Given the description of an element on the screen output the (x, y) to click on. 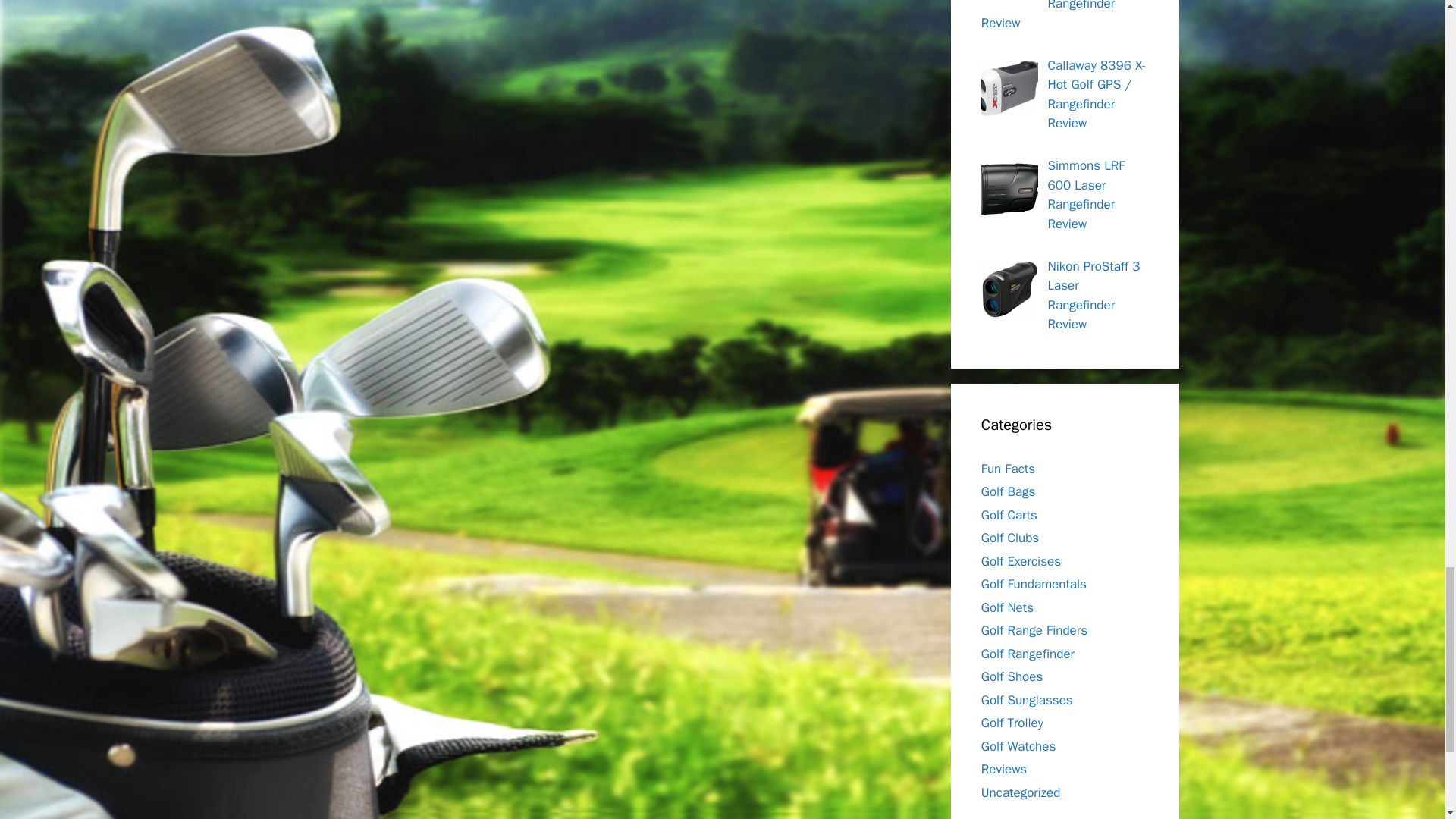
Find some of the best Golf Range Finder information here. (1027, 653)
Find the best golf shoes article information here. (1011, 676)
Find some of the best golf clubs information here. (1010, 537)
